Given the description of an element on the screen output the (x, y) to click on. 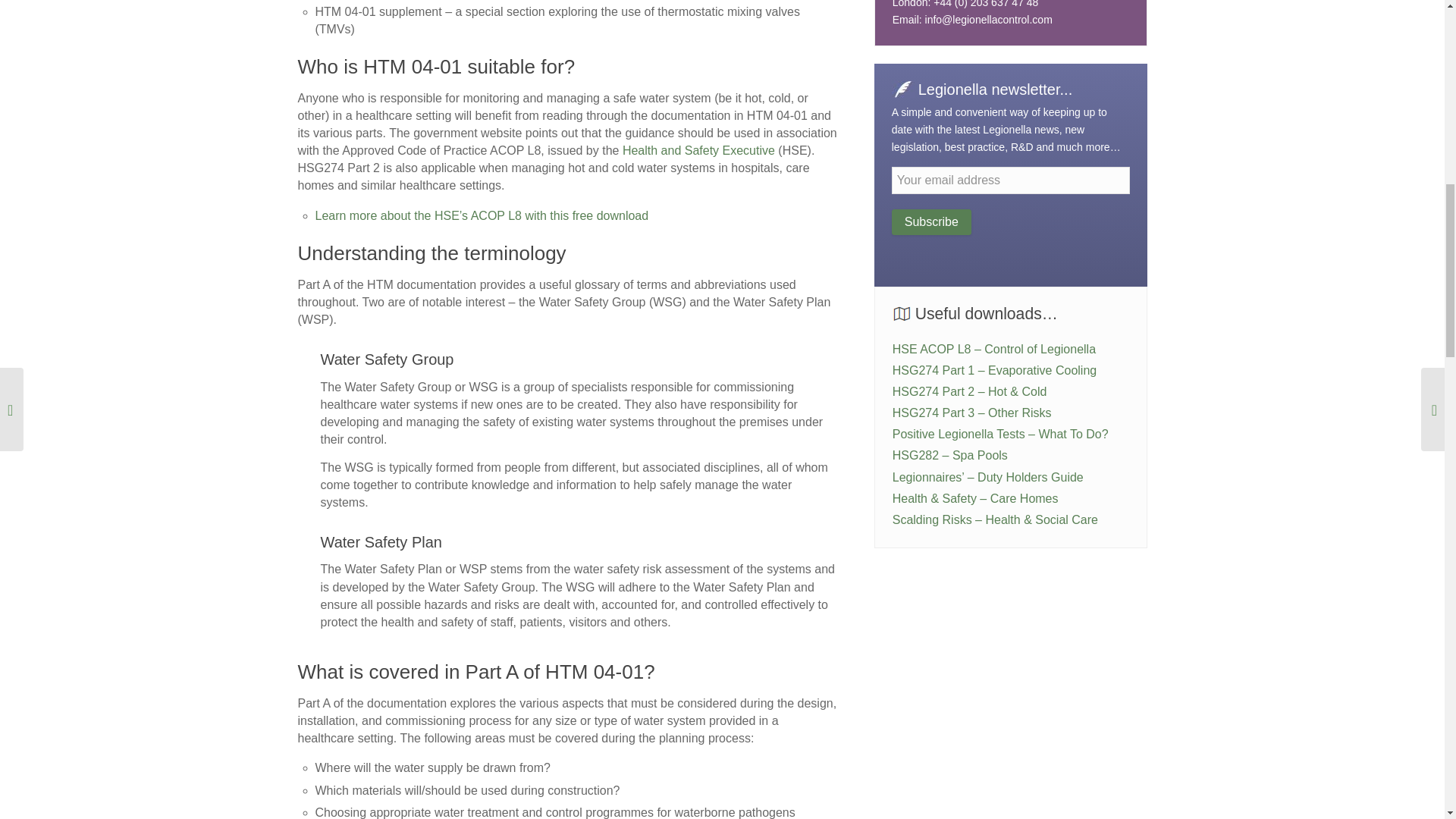
Subscribe (931, 222)
Health and Safety Executive (698, 150)
Subscribe (931, 222)
